Given the description of an element on the screen output the (x, y) to click on. 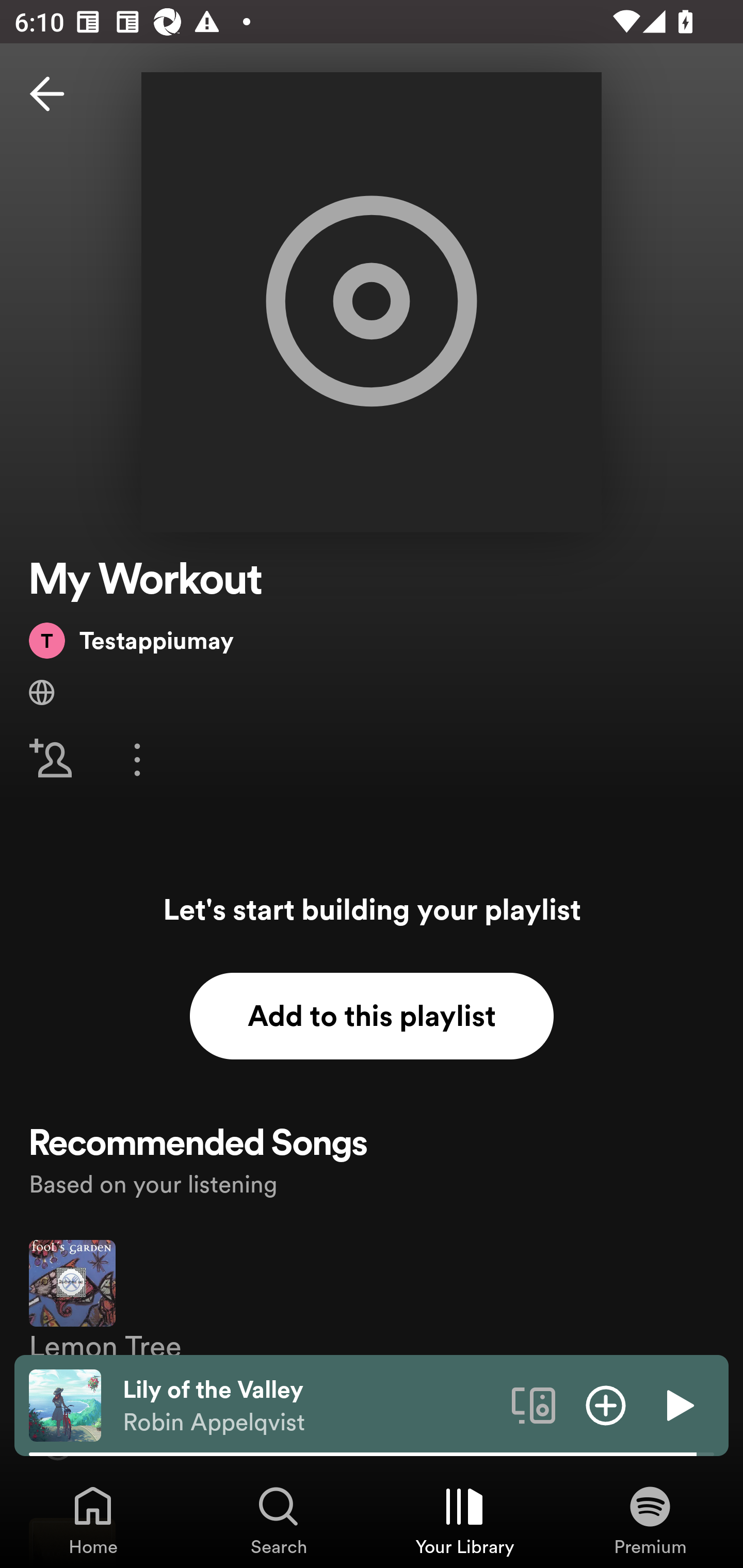
Back (46, 93)
Testappiumay (131, 640)
Invite Friends for playlist (50, 759)
More options for playlist My Workout (136, 759)
Add to this playlist (371, 1015)
Lily of the Valley Robin Appelqvist (309, 1405)
The cover art of the currently playing track (64, 1404)
Connect to a device. Opens the devices menu (533, 1404)
Add item (605, 1404)
Play (677, 1404)
Home, Tab 1 of 4 Home Home (92, 1519)
Search, Tab 2 of 4 Search Search (278, 1519)
Your Library, Tab 3 of 4 Your Library Your Library (464, 1519)
Premium, Tab 4 of 4 Premium Premium (650, 1519)
